Given the description of an element on the screen output the (x, y) to click on. 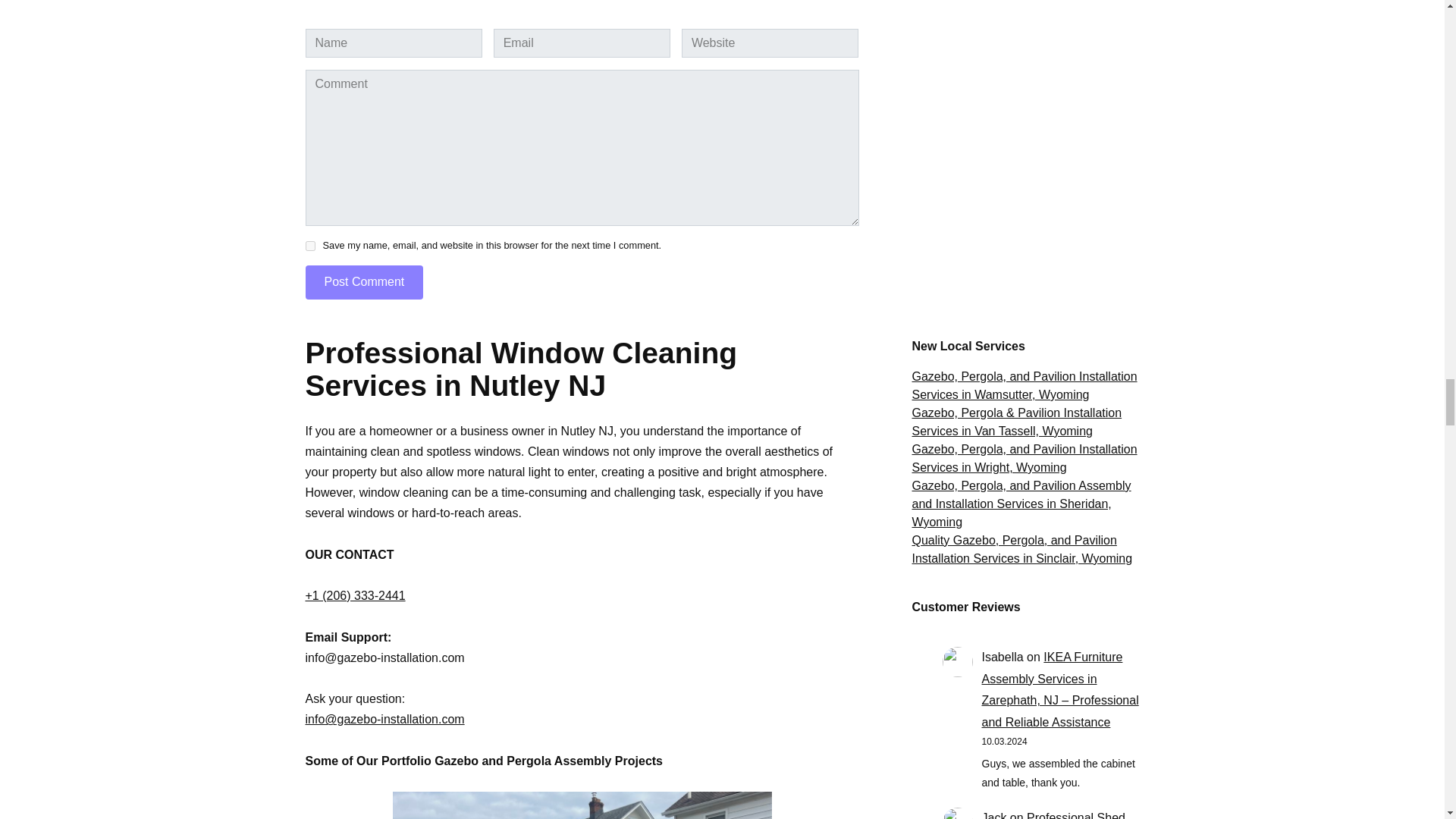
Post Comment (363, 282)
yes (309, 245)
